Given the description of an element on the screen output the (x, y) to click on. 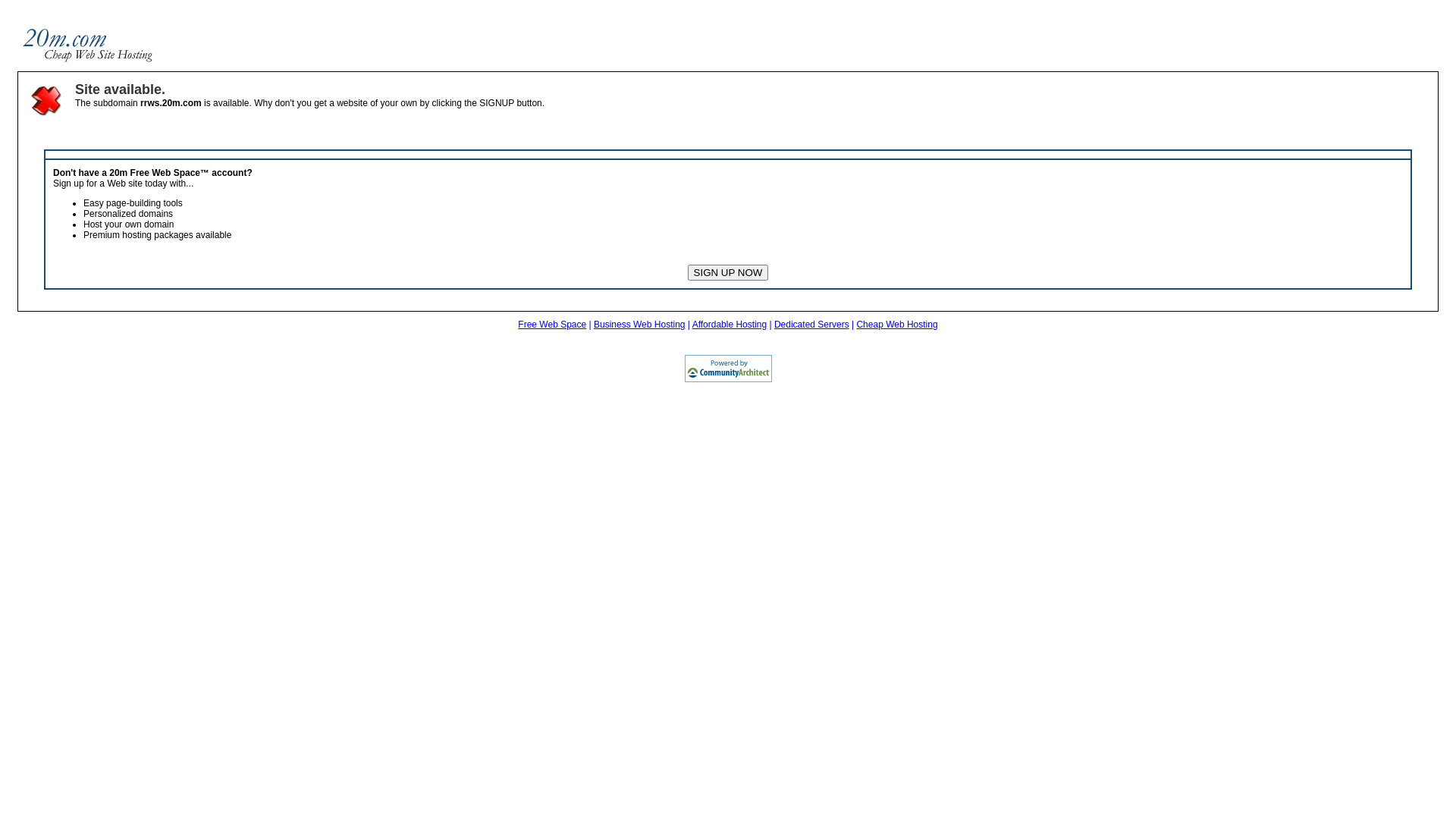
Dedicated Servers Element type: text (811, 324)
Affordable Hosting Element type: text (729, 324)
Free Web Space Element type: text (551, 324)
Business Web Hosting Element type: text (639, 324)
Cheap Web Hosting Element type: text (896, 324)
SIGN UP NOW Element type: text (727, 272)
